Given the description of an element on the screen output the (x, y) to click on. 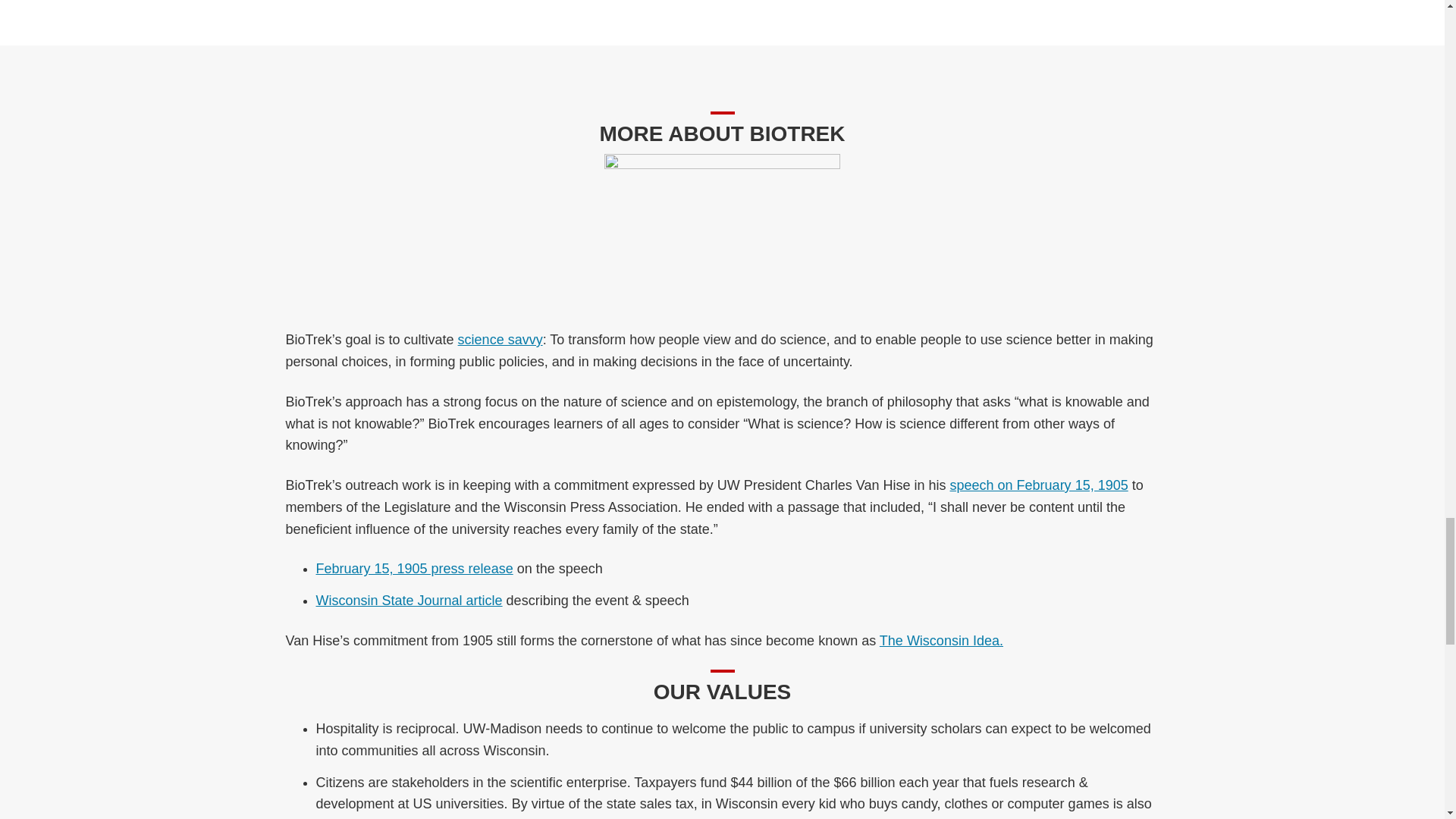
speech on February 15, 1905 (1039, 485)
Wisconsin State Journal article (408, 600)
February 15, 1905 press release (413, 568)
science savvy (500, 339)
science savvy (500, 339)
The Wisconsin Idea. (941, 640)
